Given the description of an element on the screen output the (x, y) to click on. 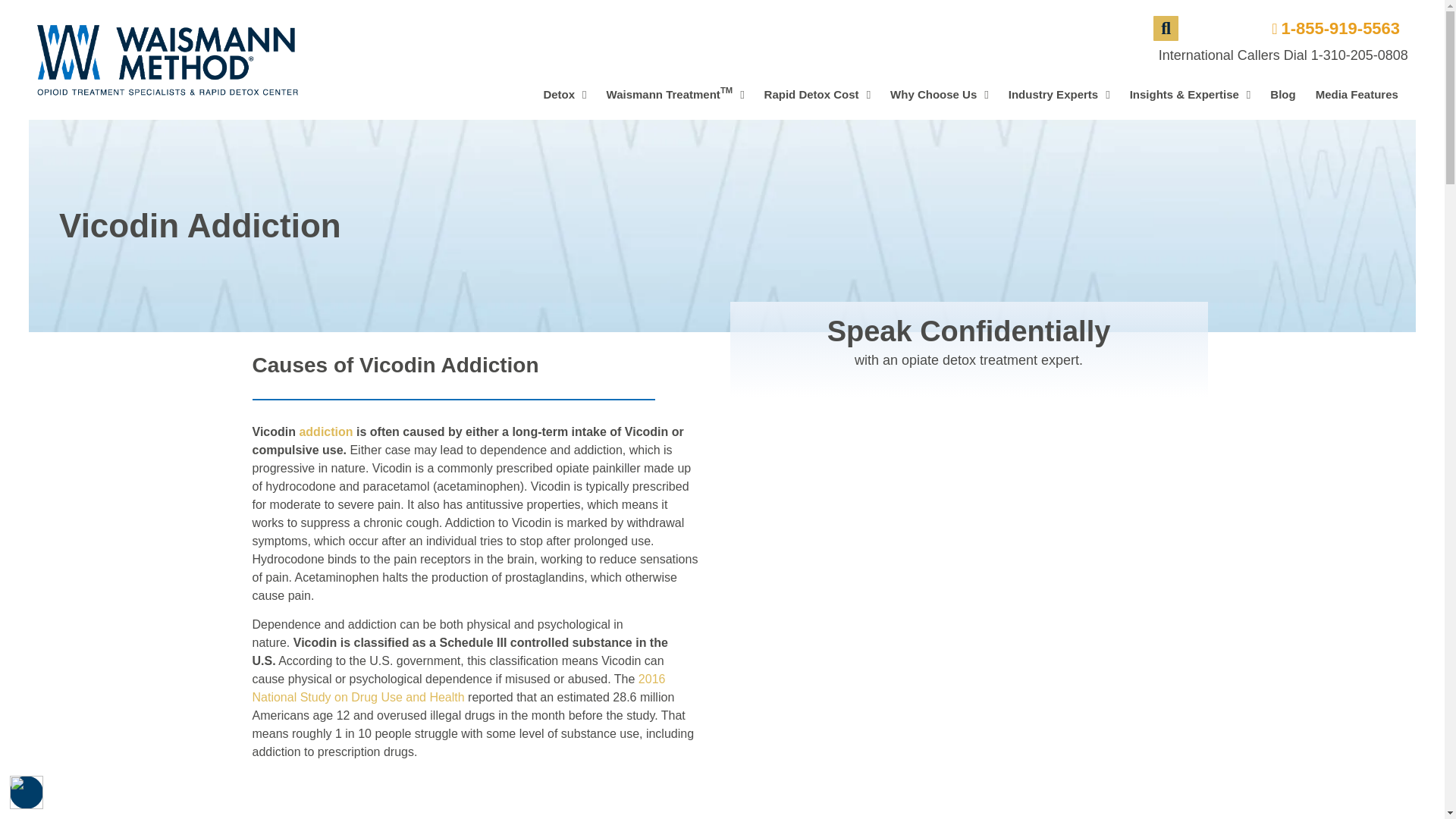
Rapid Detox Cost (817, 94)
Detox (563, 94)
1-855-919-5563 (1329, 27)
Accessibility Menu (675, 94)
1-310-205-0808 (26, 792)
